Given the description of an element on the screen output the (x, y) to click on. 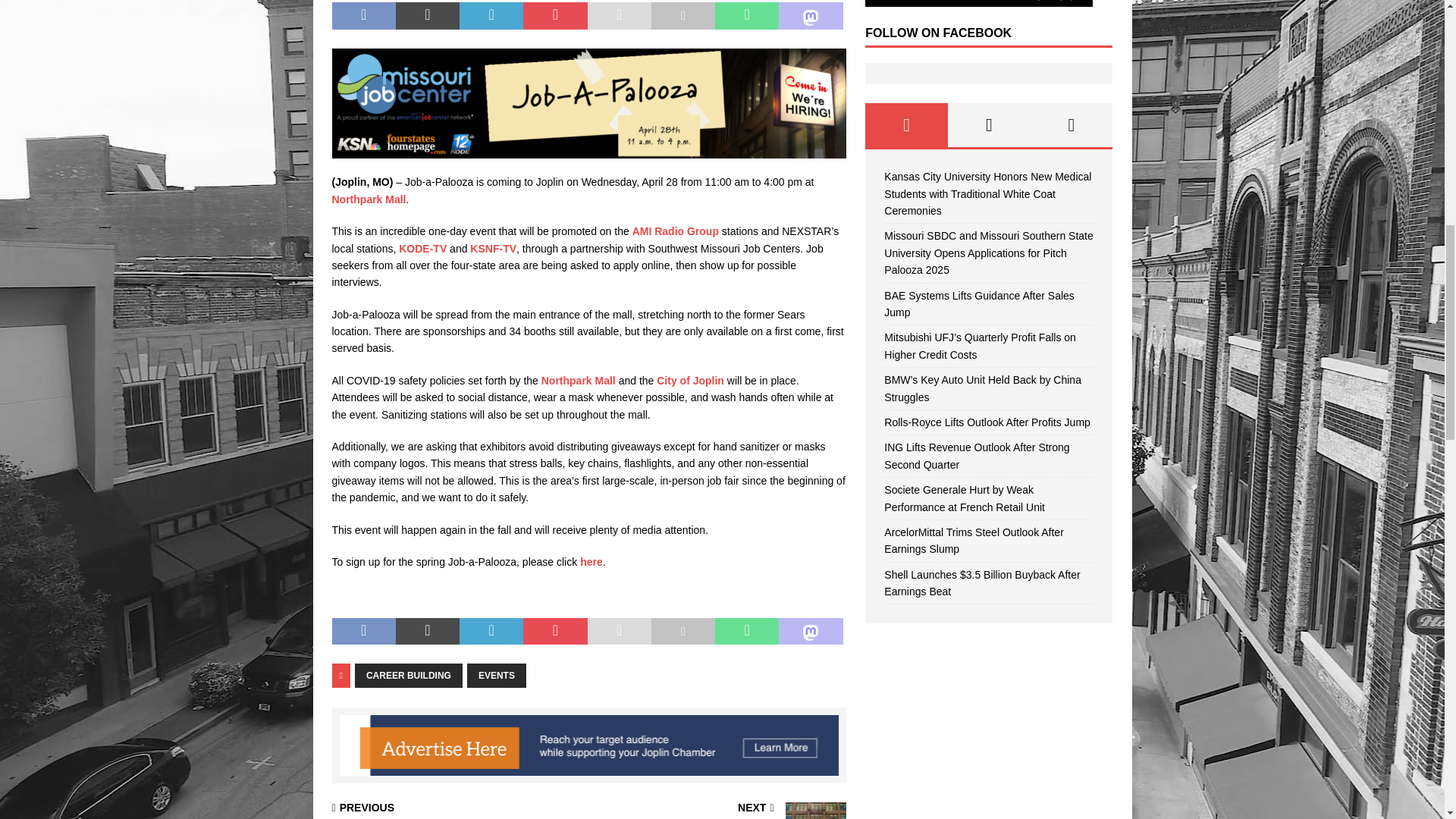
Send this article to a friend (619, 15)
Share on Facebook (363, 15)
Share on LinkedIn (491, 15)
Tweet This Post (428, 15)
Print this article (682, 15)
Pin This Post (554, 15)
